Given the description of an element on the screen output the (x, y) to click on. 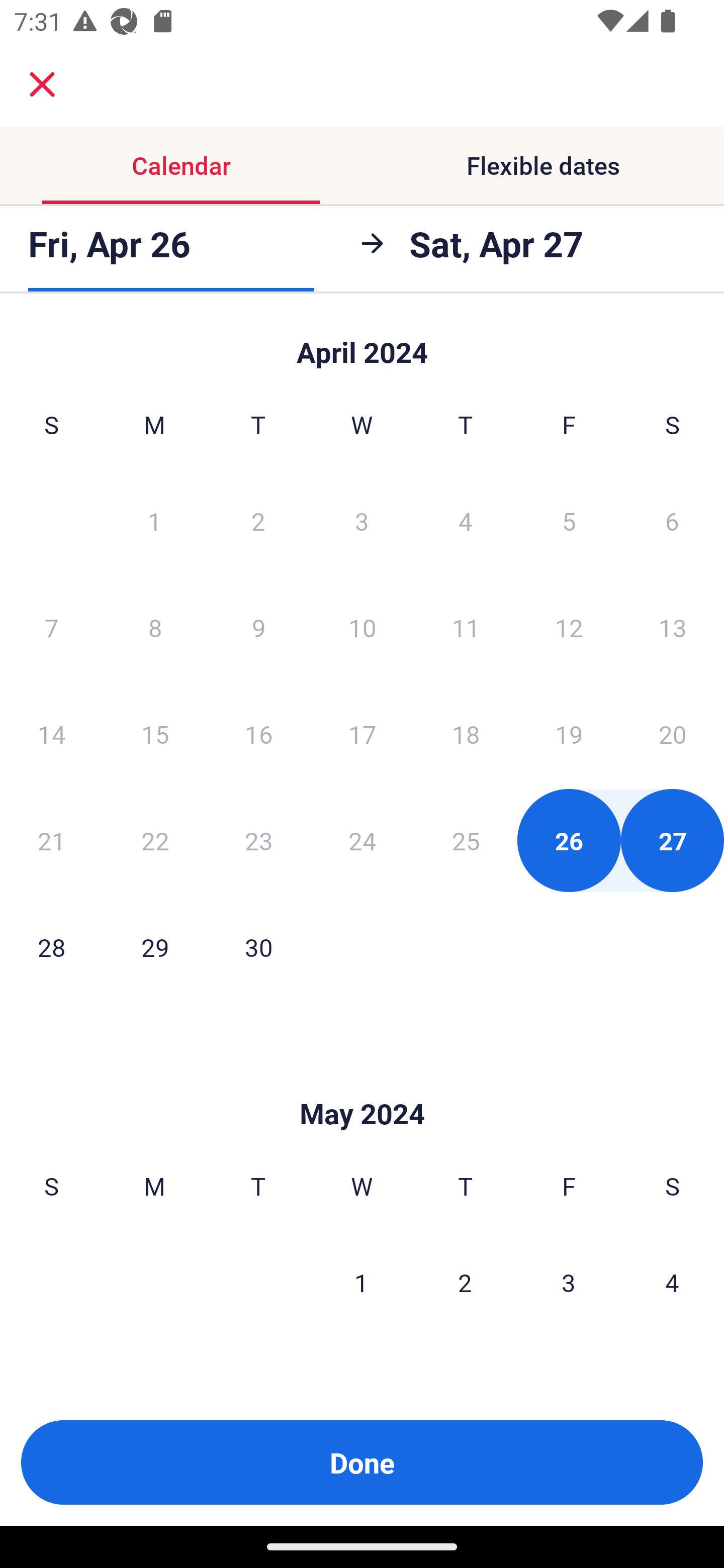
close. (42, 84)
Flexible dates (542, 164)
Skip to Done (362, 343)
1 Monday, April 1, 2024 (154, 520)
2 Tuesday, April 2, 2024 (257, 520)
3 Wednesday, April 3, 2024 (361, 520)
4 Thursday, April 4, 2024 (465, 520)
5 Friday, April 5, 2024 (568, 520)
6 Saturday, April 6, 2024 (672, 520)
7 Sunday, April 7, 2024 (51, 626)
8 Monday, April 8, 2024 (155, 626)
9 Tuesday, April 9, 2024 (258, 626)
10 Wednesday, April 10, 2024 (362, 626)
11 Thursday, April 11, 2024 (465, 626)
12 Friday, April 12, 2024 (569, 626)
13 Saturday, April 13, 2024 (672, 626)
14 Sunday, April 14, 2024 (51, 733)
15 Monday, April 15, 2024 (155, 733)
16 Tuesday, April 16, 2024 (258, 733)
17 Wednesday, April 17, 2024 (362, 733)
18 Thursday, April 18, 2024 (465, 733)
19 Friday, April 19, 2024 (569, 733)
20 Saturday, April 20, 2024 (672, 733)
21 Sunday, April 21, 2024 (51, 840)
22 Monday, April 22, 2024 (155, 840)
23 Tuesday, April 23, 2024 (258, 840)
24 Wednesday, April 24, 2024 (362, 840)
25 Thursday, April 25, 2024 (465, 840)
28 Sunday, April 28, 2024 (51, 946)
29 Monday, April 29, 2024 (155, 946)
30 Tuesday, April 30, 2024 (258, 946)
Skip to Done (362, 1083)
1 Wednesday, May 1, 2024 (361, 1282)
2 Thursday, May 2, 2024 (464, 1282)
3 Friday, May 3, 2024 (568, 1282)
4 Saturday, May 4, 2024 (672, 1282)
Done (361, 1462)
